Given the description of an element on the screen output the (x, y) to click on. 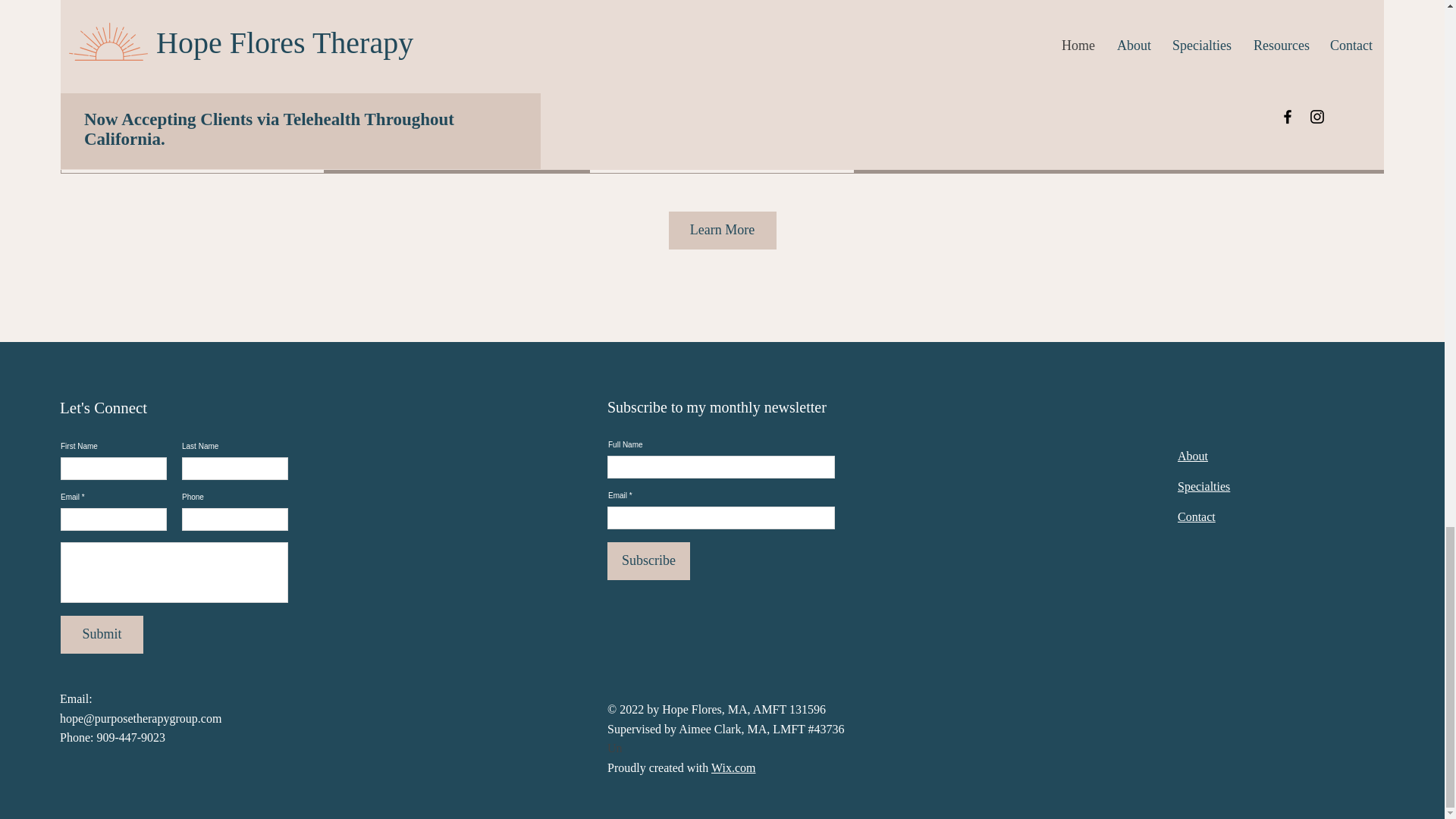
Subscribe (648, 560)
Wix.com (733, 767)
Contact (1196, 516)
Learn More (722, 230)
About (1192, 455)
Specialties (1203, 486)
Submit (101, 634)
